Given the description of an element on the screen output the (x, y) to click on. 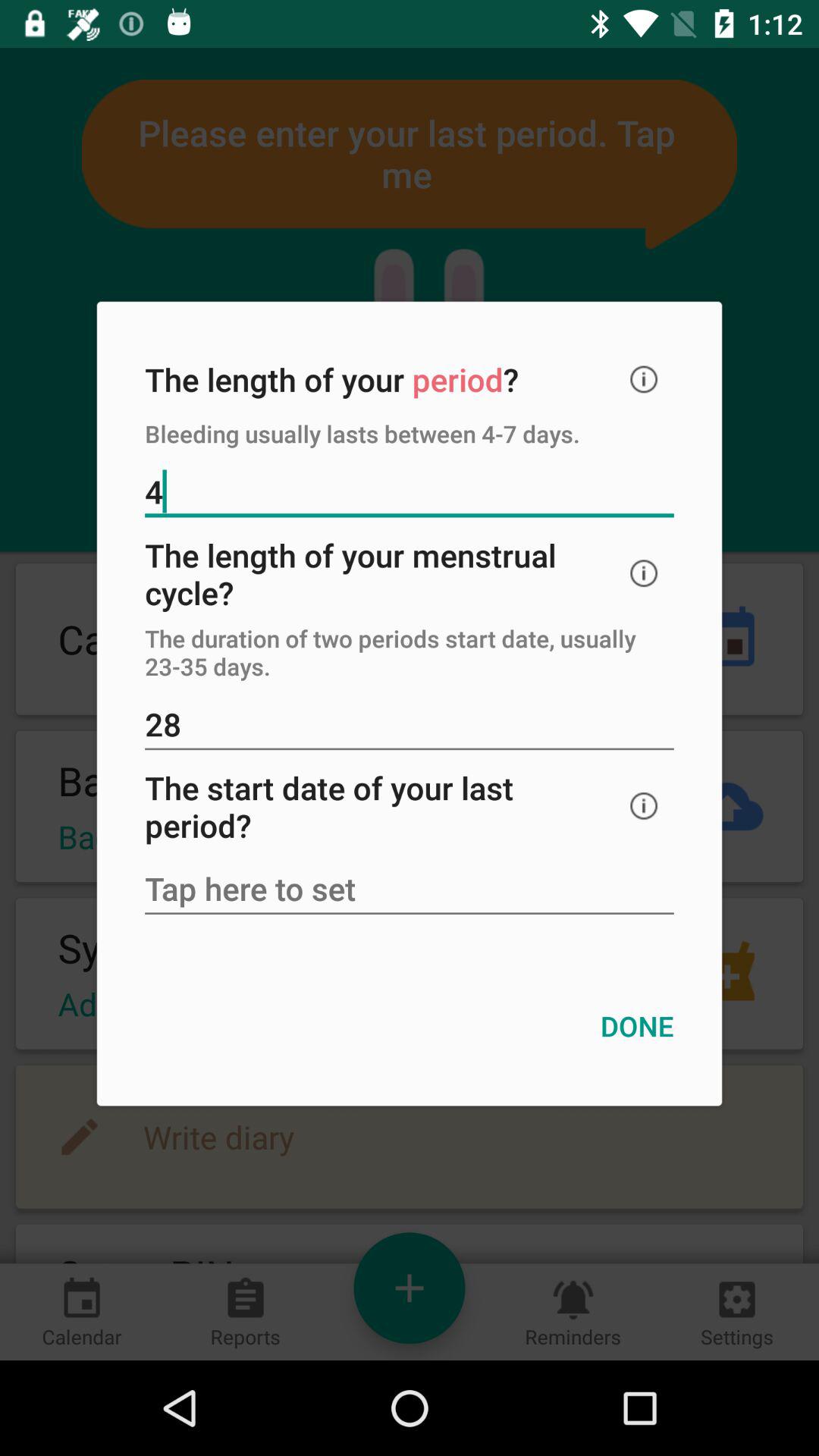
click info option (643, 806)
